Given the description of an element on the screen output the (x, y) to click on. 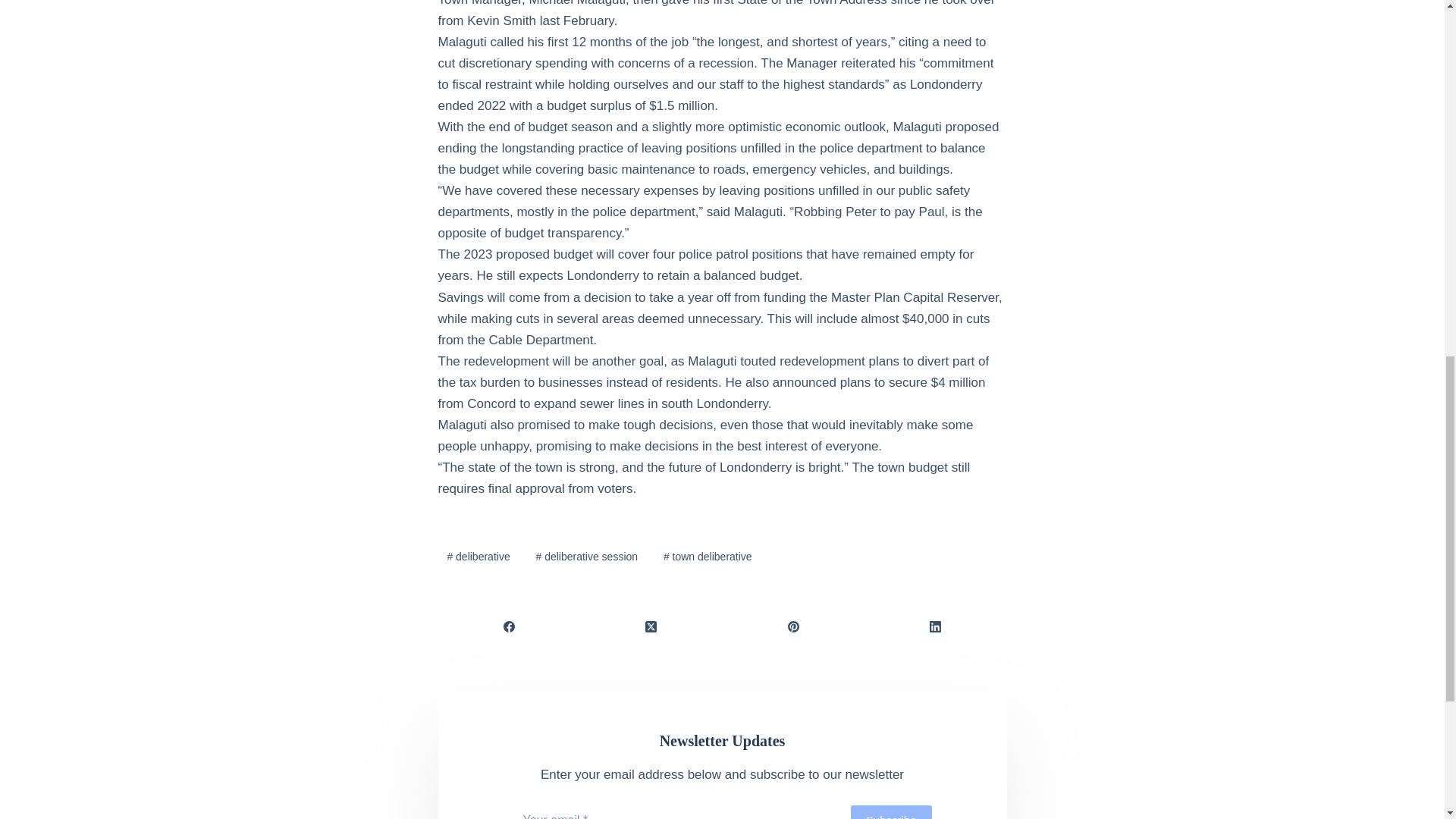
Subscribe (890, 812)
